Given the description of an element on the screen output the (x, y) to click on. 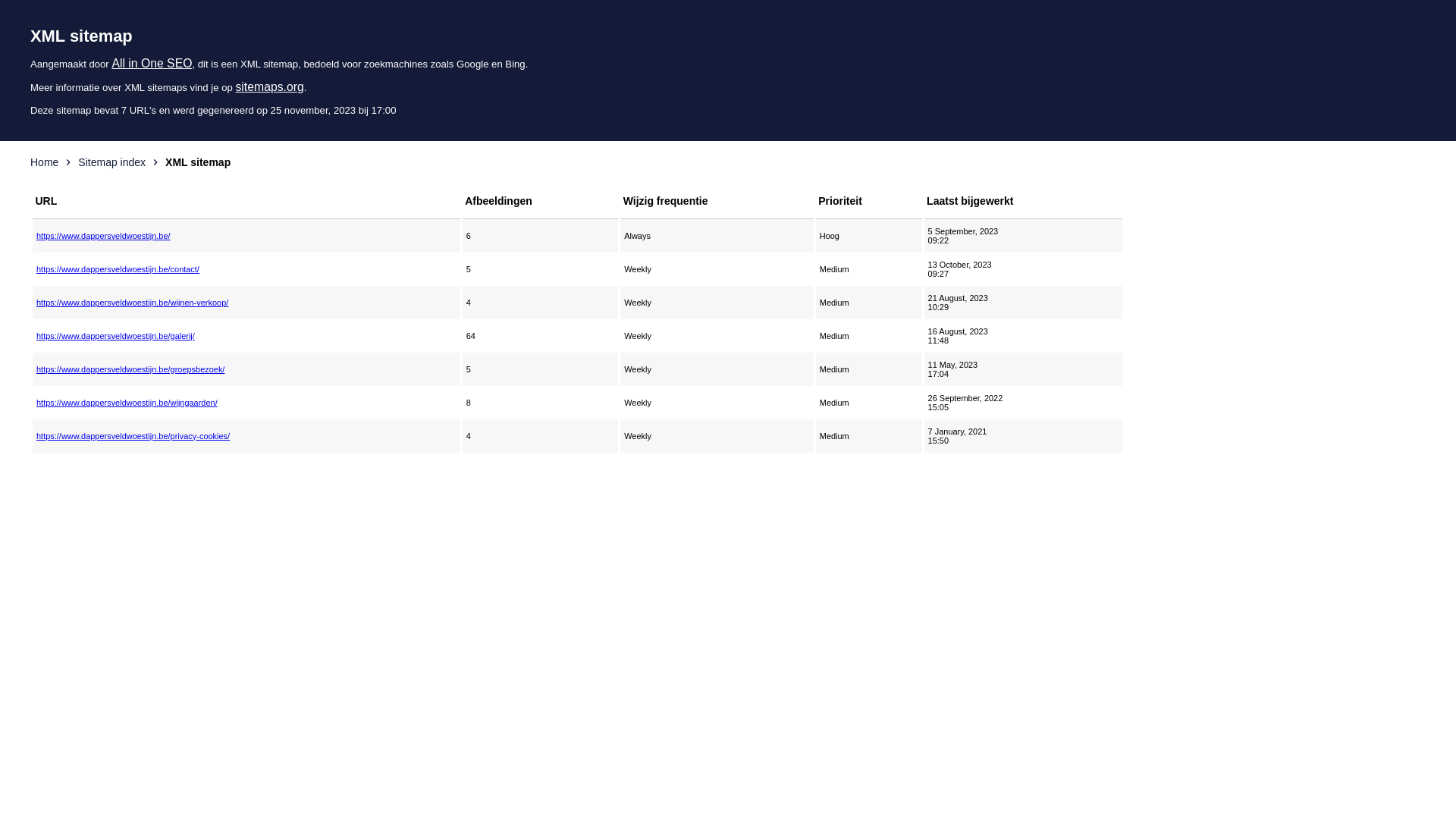
https://www.dappersveldwoestijn.be/groepsbezoek/ Element type: text (246, 368)
https://www.dappersveldwoestijn.be/contact/ Element type: text (246, 268)
Sitemap index Element type: text (111, 162)
https://www.dappersveldwoestijn.be/wijnen-verkoop/ Element type: text (246, 302)
https://www.dappersveldwoestijn.be/wijngaarden/ Element type: text (246, 402)
Home Element type: text (44, 162)
https://www.dappersveldwoestijn.be/ Element type: text (246, 235)
https://www.dappersveldwoestijn.be/galerij/ Element type: text (246, 335)
sitemaps.org Element type: text (269, 86)
All in One SEO Element type: text (151, 62)
https://www.dappersveldwoestijn.be/privacy-cookies/ Element type: text (246, 435)
